Given the description of an element on the screen output the (x, y) to click on. 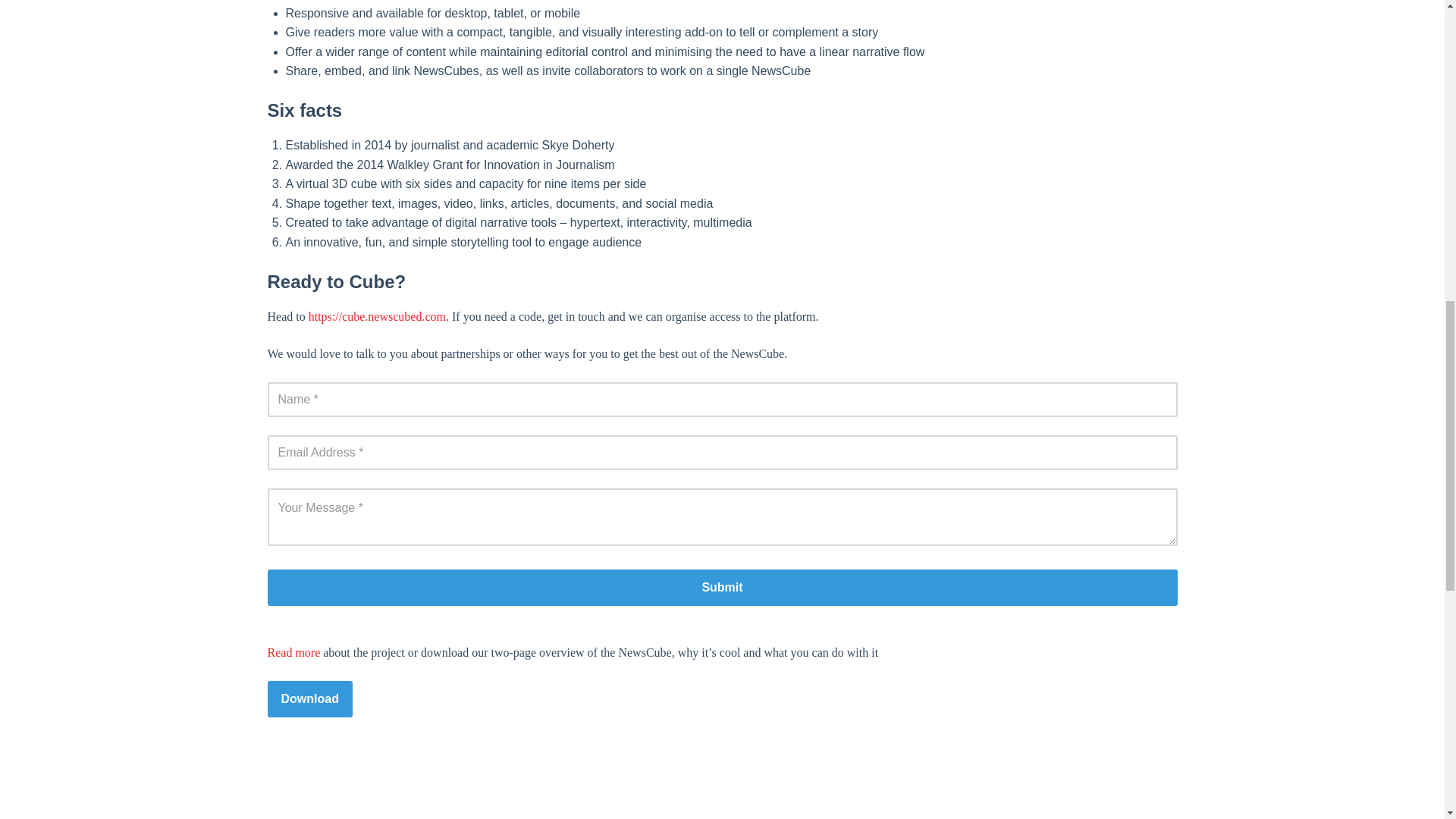
Download (309, 698)
Read more (293, 652)
Submit (721, 587)
